Given the description of an element on the screen output the (x, y) to click on. 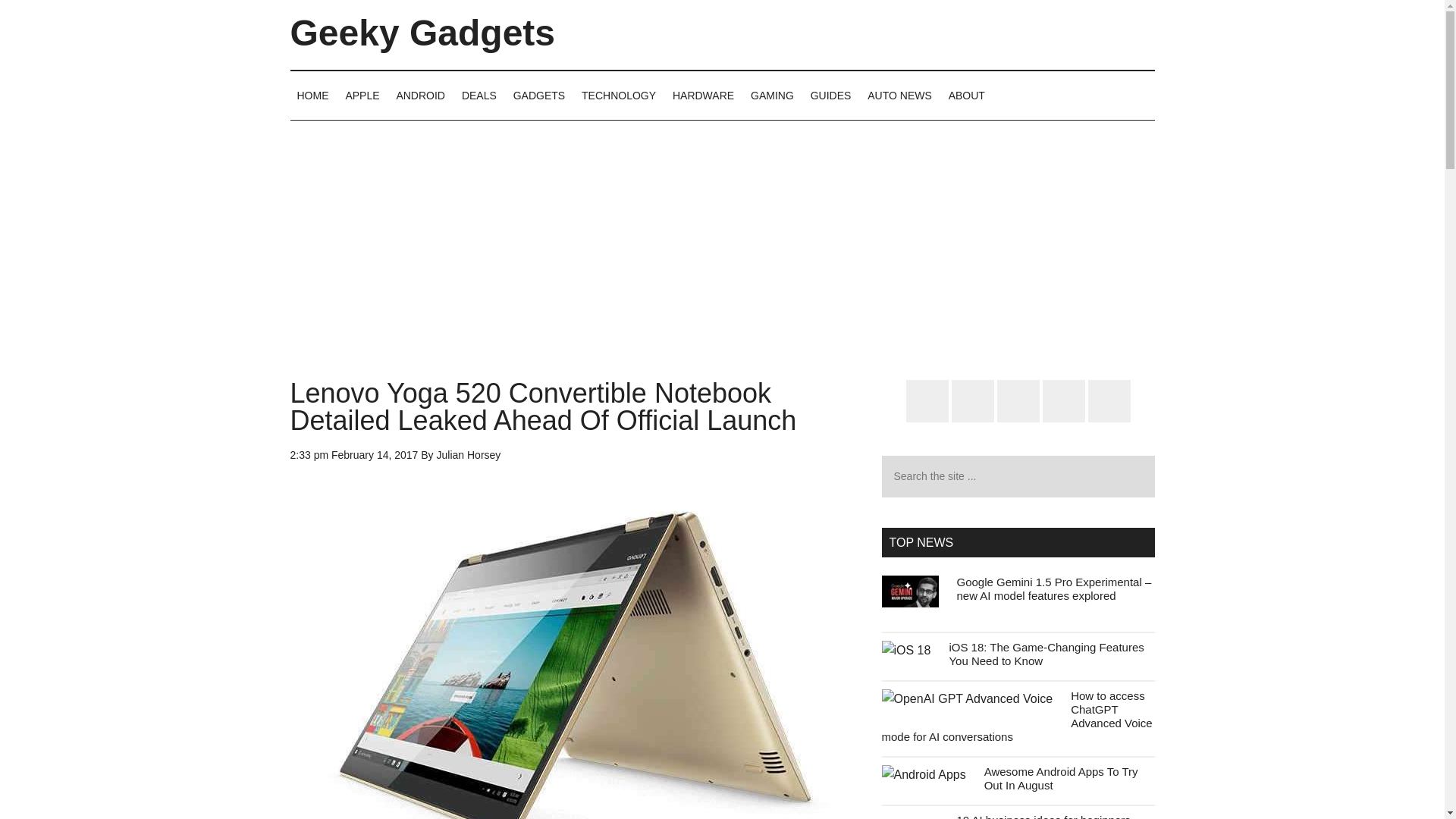
GADGETS (539, 95)
HARDWARE (703, 95)
APPLE (361, 95)
ANDROID (419, 95)
GAMING (772, 95)
AUTO NEWS (899, 95)
Julian Horsey (468, 454)
ABOUT (966, 95)
iOS 18: The Game-Changing Features You Need to Know (1045, 653)
TECHNOLOGY (618, 95)
About Geeky Gadgets (966, 95)
GUIDES (831, 95)
